Given the description of an element on the screen output the (x, y) to click on. 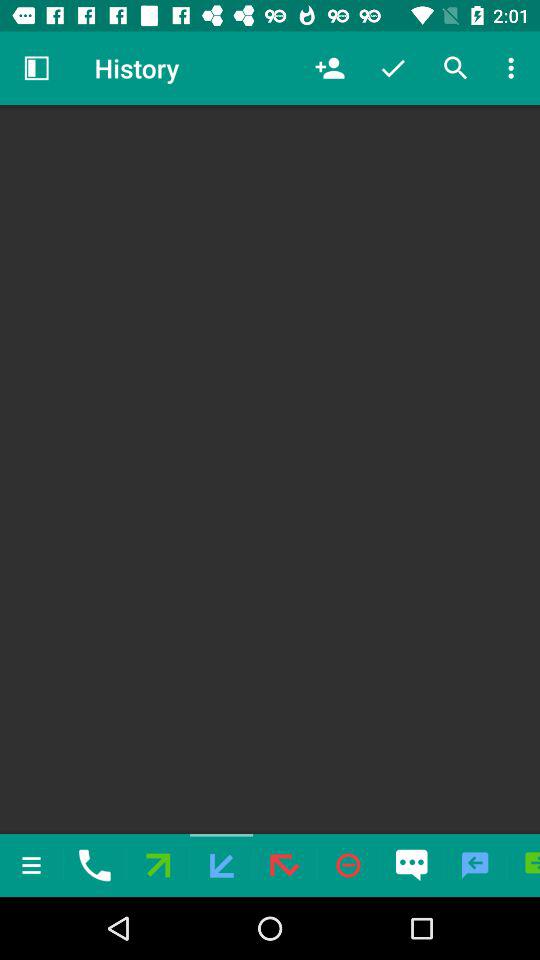
click the item at the center (270, 469)
